Given the description of an element on the screen output the (x, y) to click on. 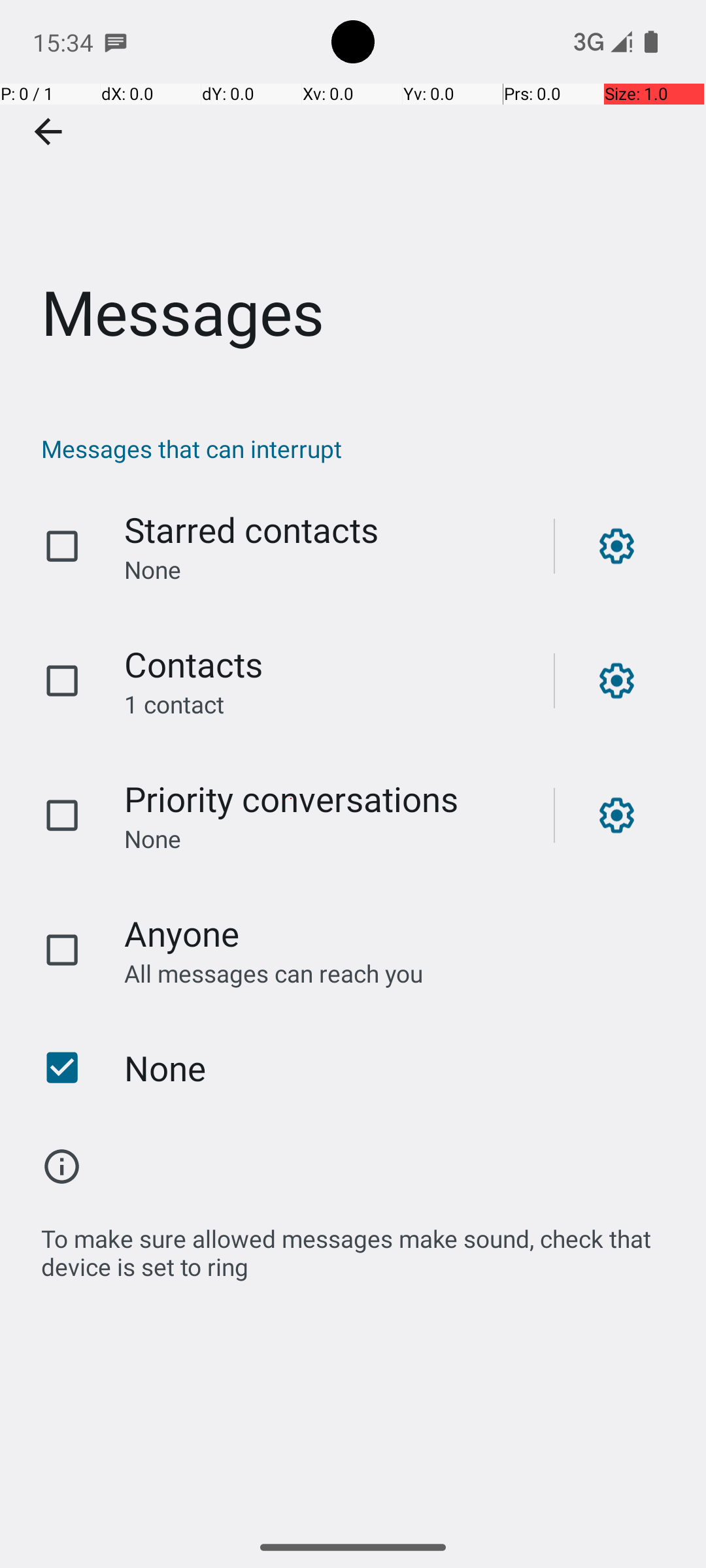
Messages that can interrupt Element type: android.widget.TextView (359, 448)
Starred contacts Element type: android.widget.TextView (251, 529)
1 contact Element type: android.widget.TextView (325, 703)
Priority conversations Element type: android.widget.TextView (291, 798)
Anyone Element type: android.widget.TextView (181, 933)
All messages can reach you Element type: android.widget.TextView (387, 972)
To make sure allowed messages make sound, check that device is set to ring Element type: android.widget.TextView (359, 1245)
